Given the description of an element on the screen output the (x, y) to click on. 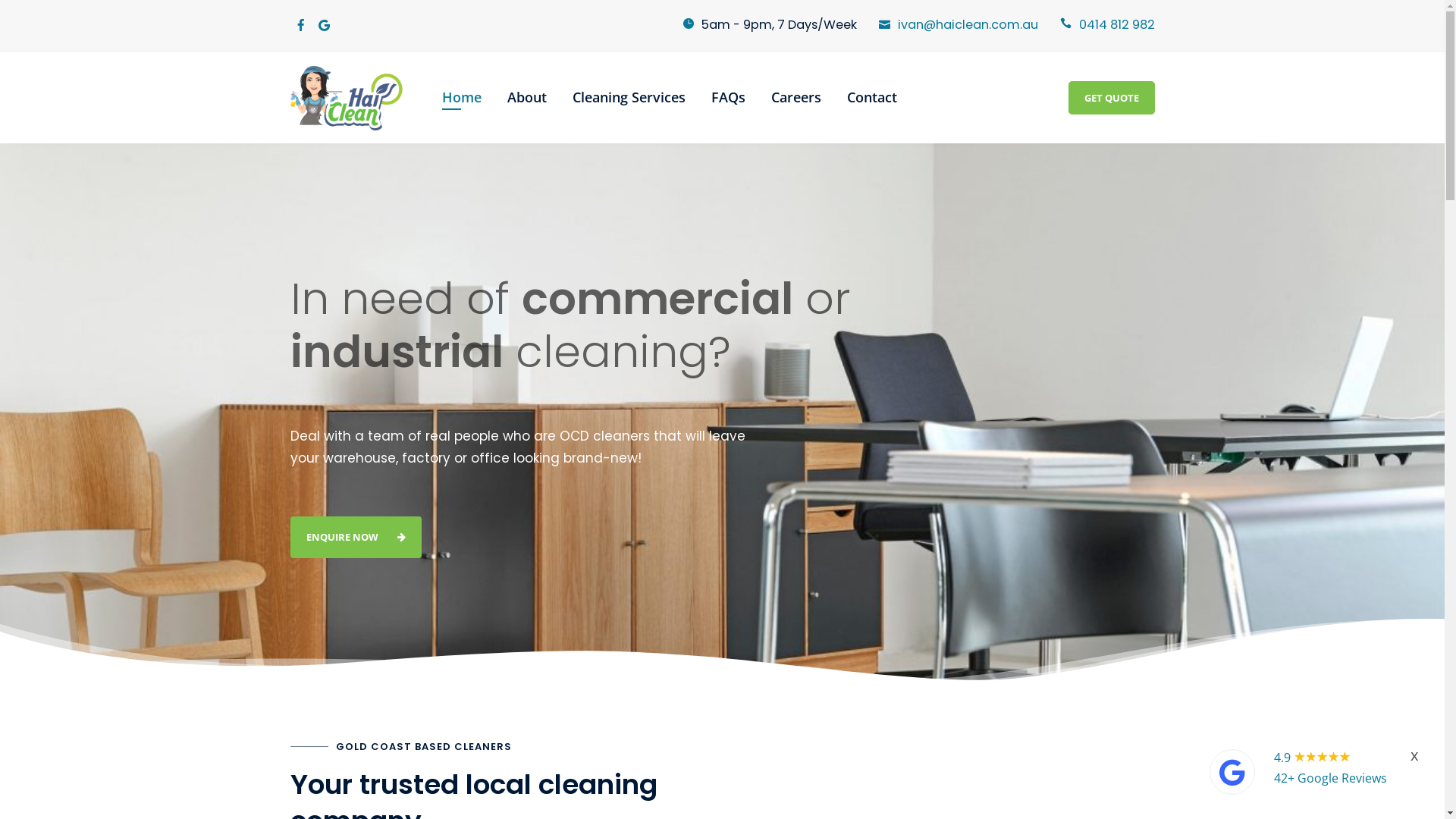
ivan@haiclean.com.au Element type: text (967, 24)
Cleaning Services Element type: text (628, 96)
42+ Google Reviews Element type: text (1330, 777)
ENQUIRE NOW Element type: text (354, 537)
0414 812 982 Element type: text (1116, 24)
4.9 Element type: text (1283, 757)
GET QUOTE Element type: text (1110, 98)
FAQs Element type: text (728, 96)
About Element type: text (526, 96)
Careers Element type: text (796, 96)
Home Element type: text (461, 96)
Contact Element type: text (872, 96)
